Given the description of an element on the screen output the (x, y) to click on. 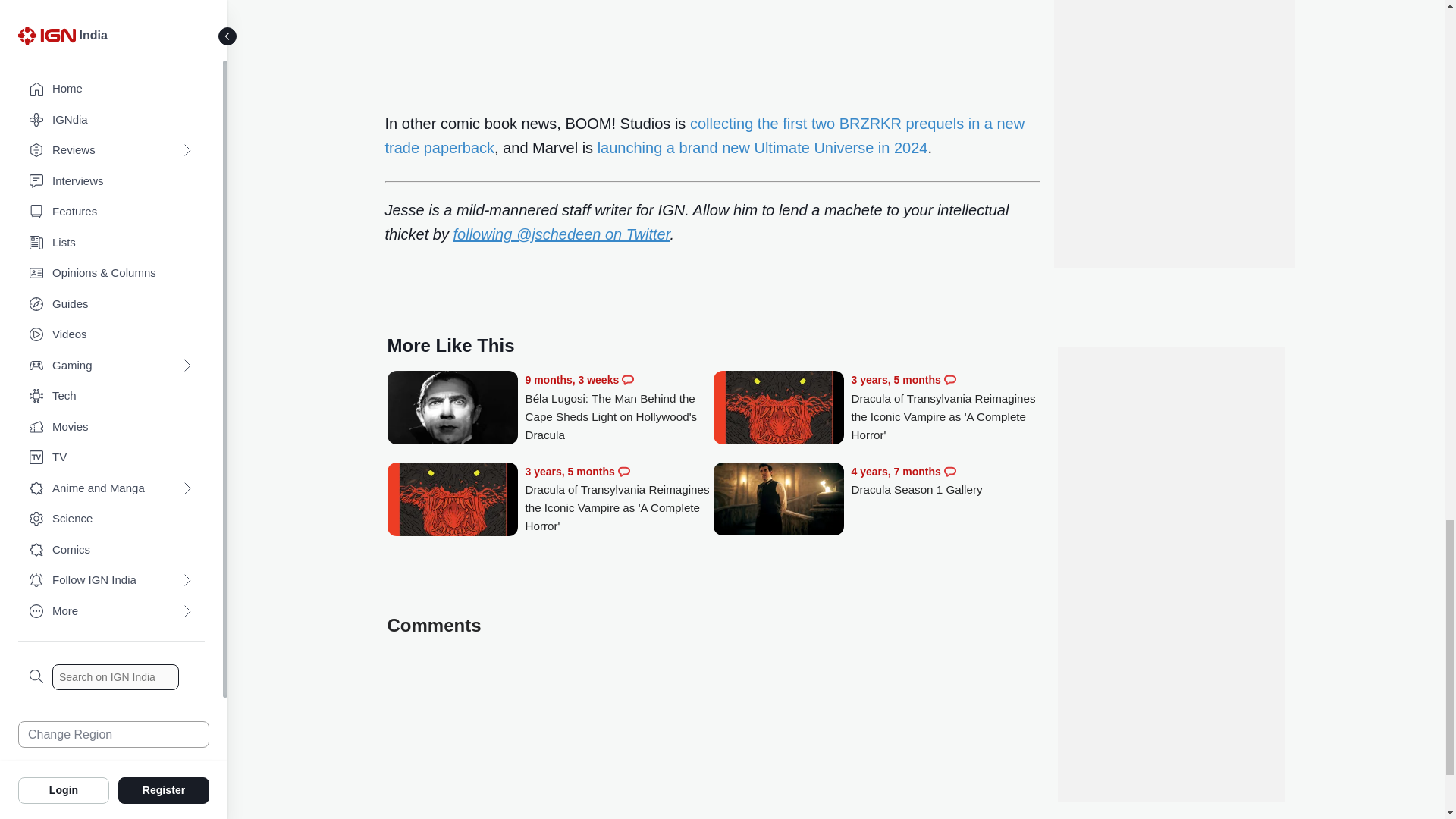
Dracula Season 1 Gallery (944, 480)
Dracula Season 1 Gallery (778, 500)
